Given the description of an element on the screen output the (x, y) to click on. 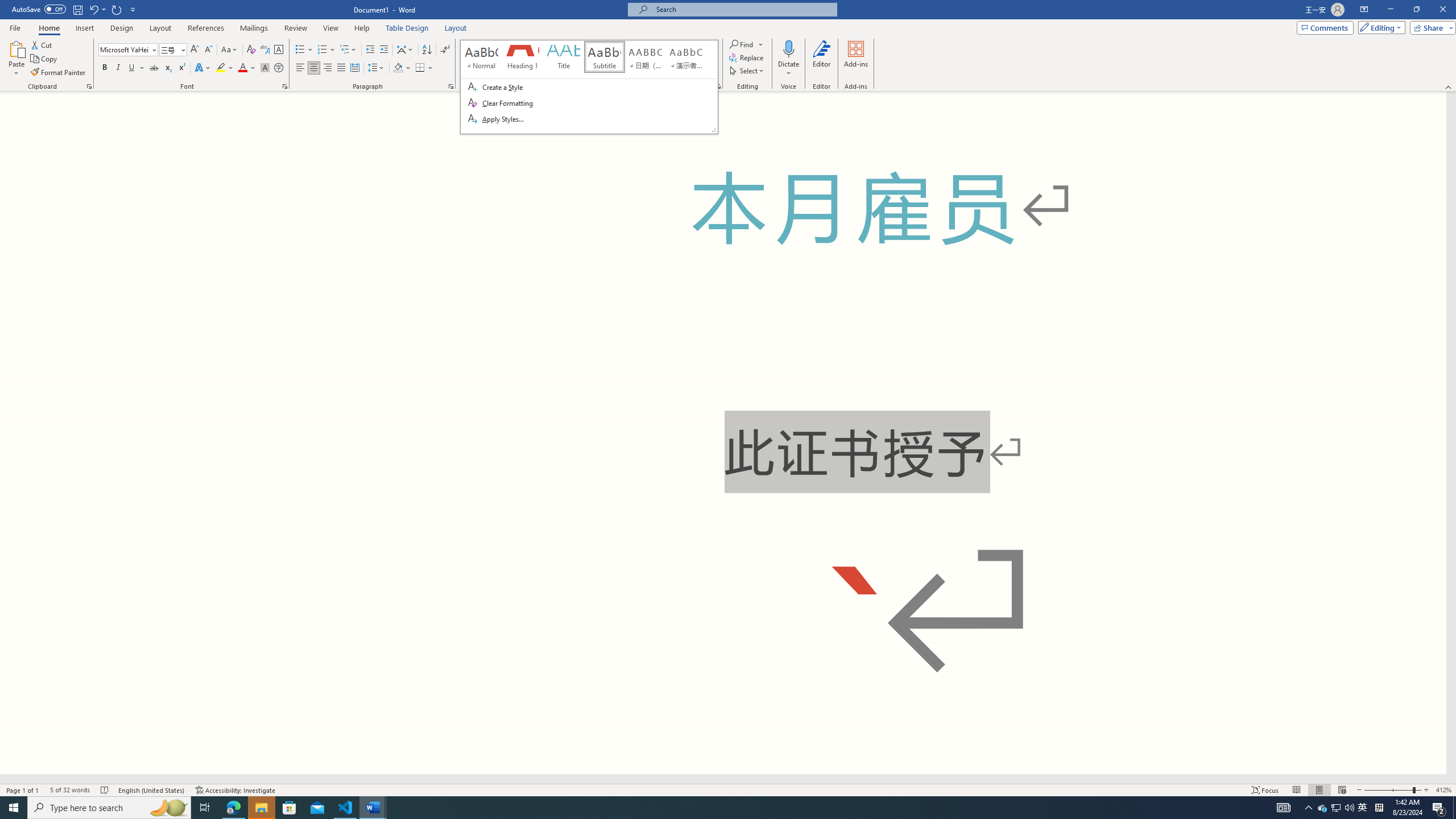
Page Number Page 1 of 1 (22, 790)
Undo Superscript (96, 9)
Word Count 5 of 32 words (69, 790)
Font Color Red (241, 67)
